Given the description of an element on the screen output the (x, y) to click on. 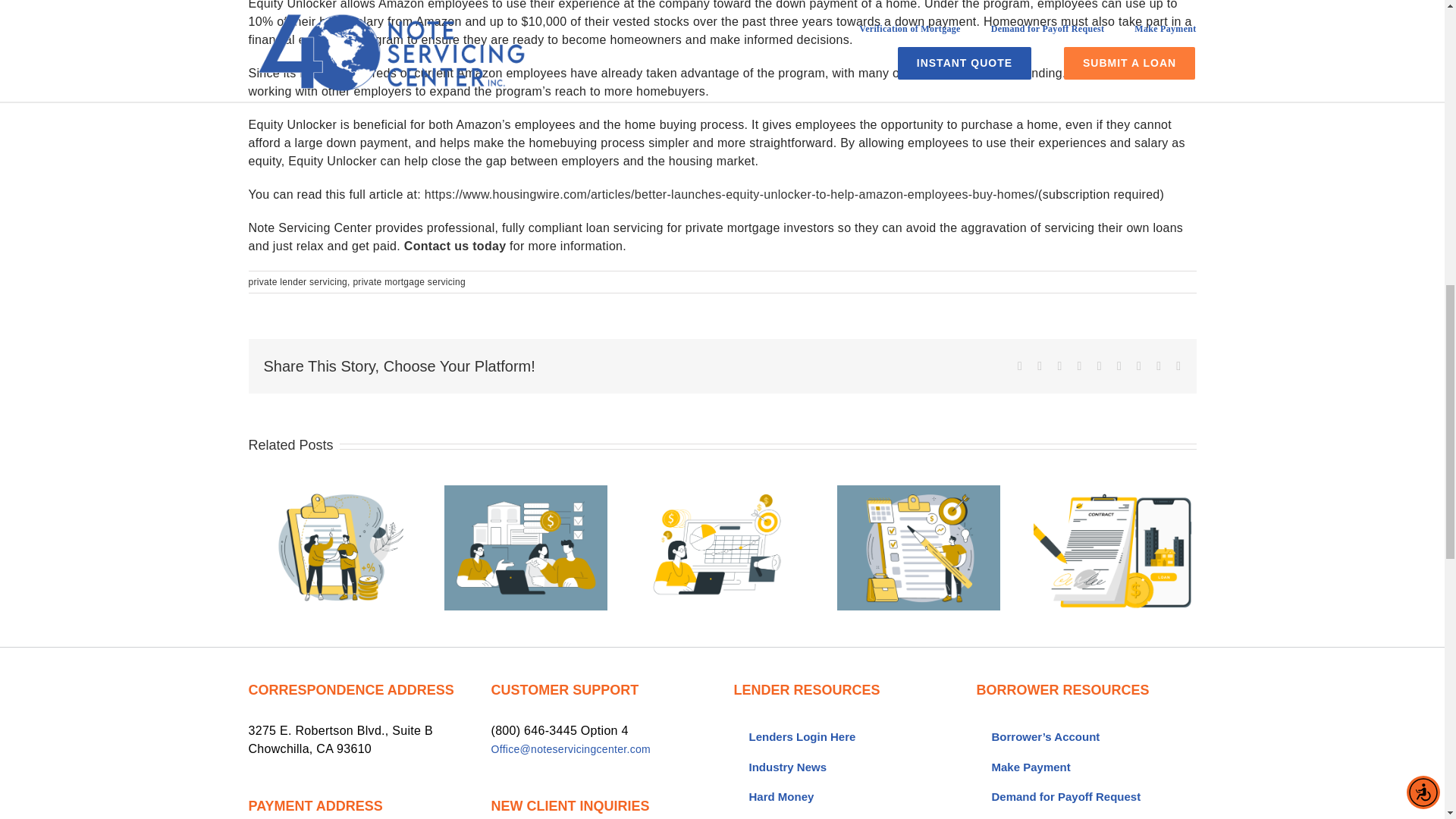
Contact us today (455, 245)
private lender servicing (297, 281)
private mortgage servicing (408, 281)
